Given the description of an element on the screen output the (x, y) to click on. 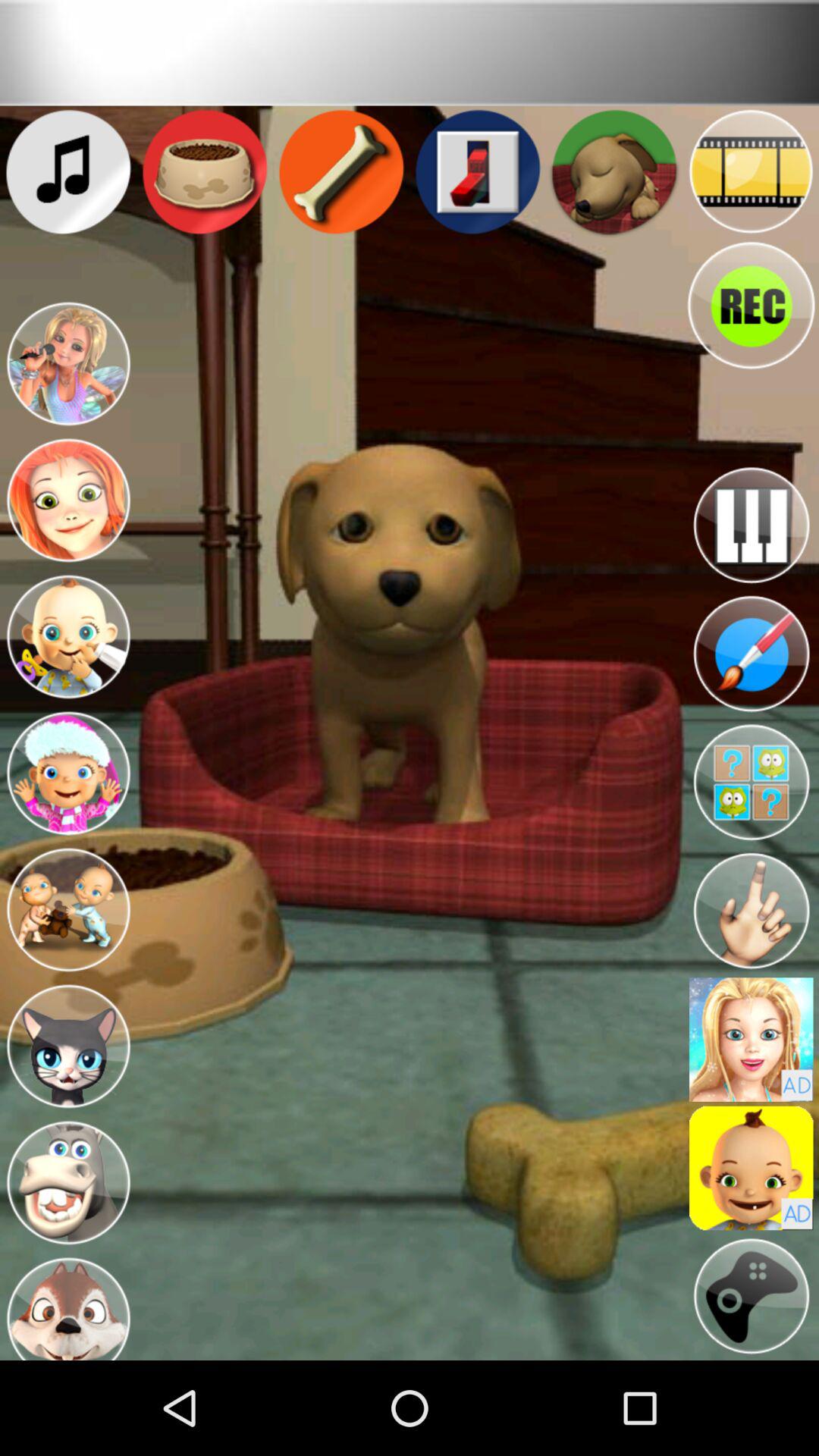
change the character (68, 1182)
